Given the description of an element on the screen output the (x, y) to click on. 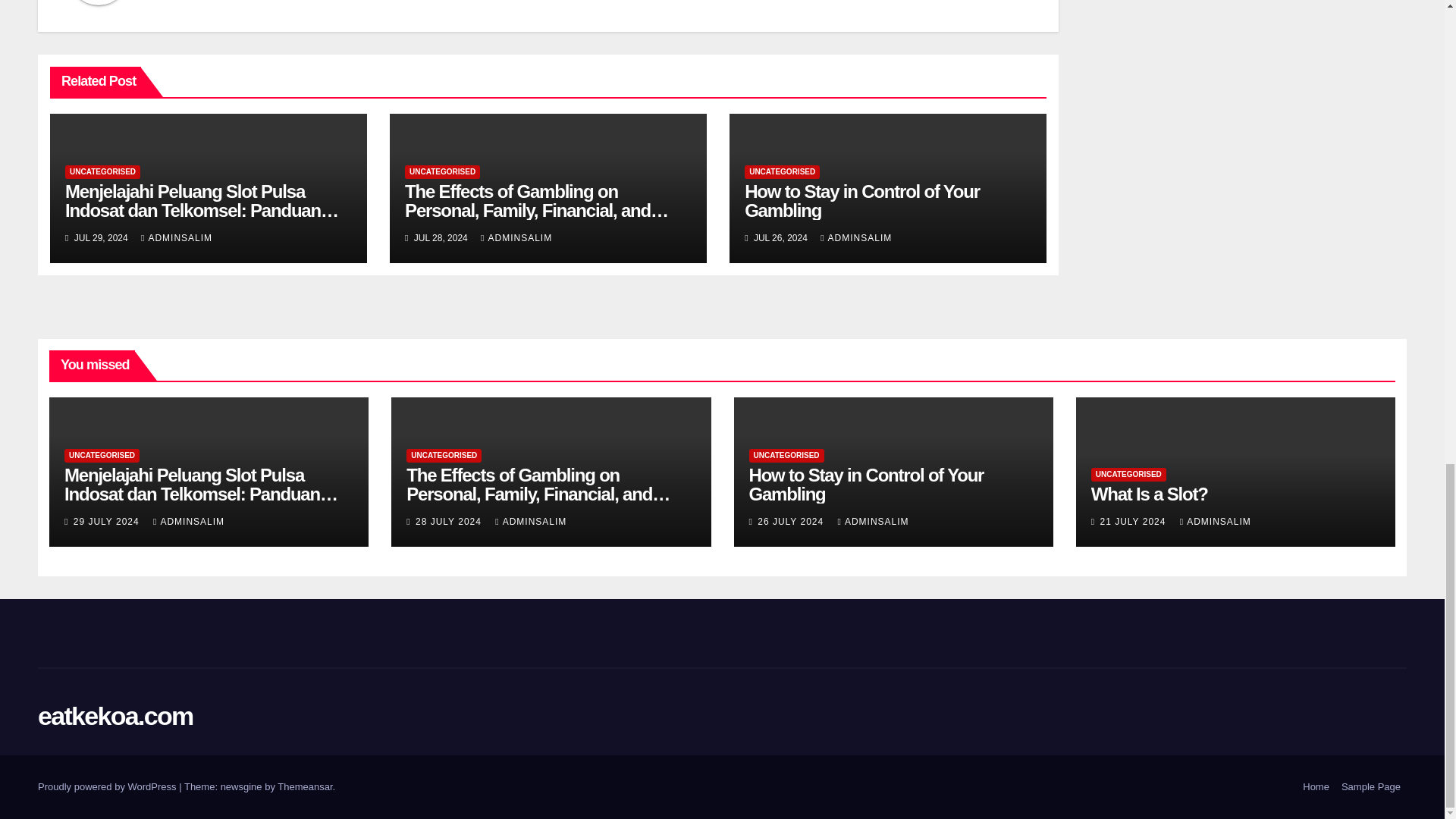
UNCATEGORISED (102, 172)
ADMINSALIM (856, 237)
How to Stay in Control of Your Gambling (861, 200)
UNCATEGORISED (781, 172)
29 JULY 2024 (108, 521)
UNCATEGORISED (101, 455)
Home (1316, 786)
Permalink to: How to Stay in Control of Your Gambling (866, 484)
Permalink to: What Is a Slot? (1149, 494)
